Given the description of an element on the screen output the (x, y) to click on. 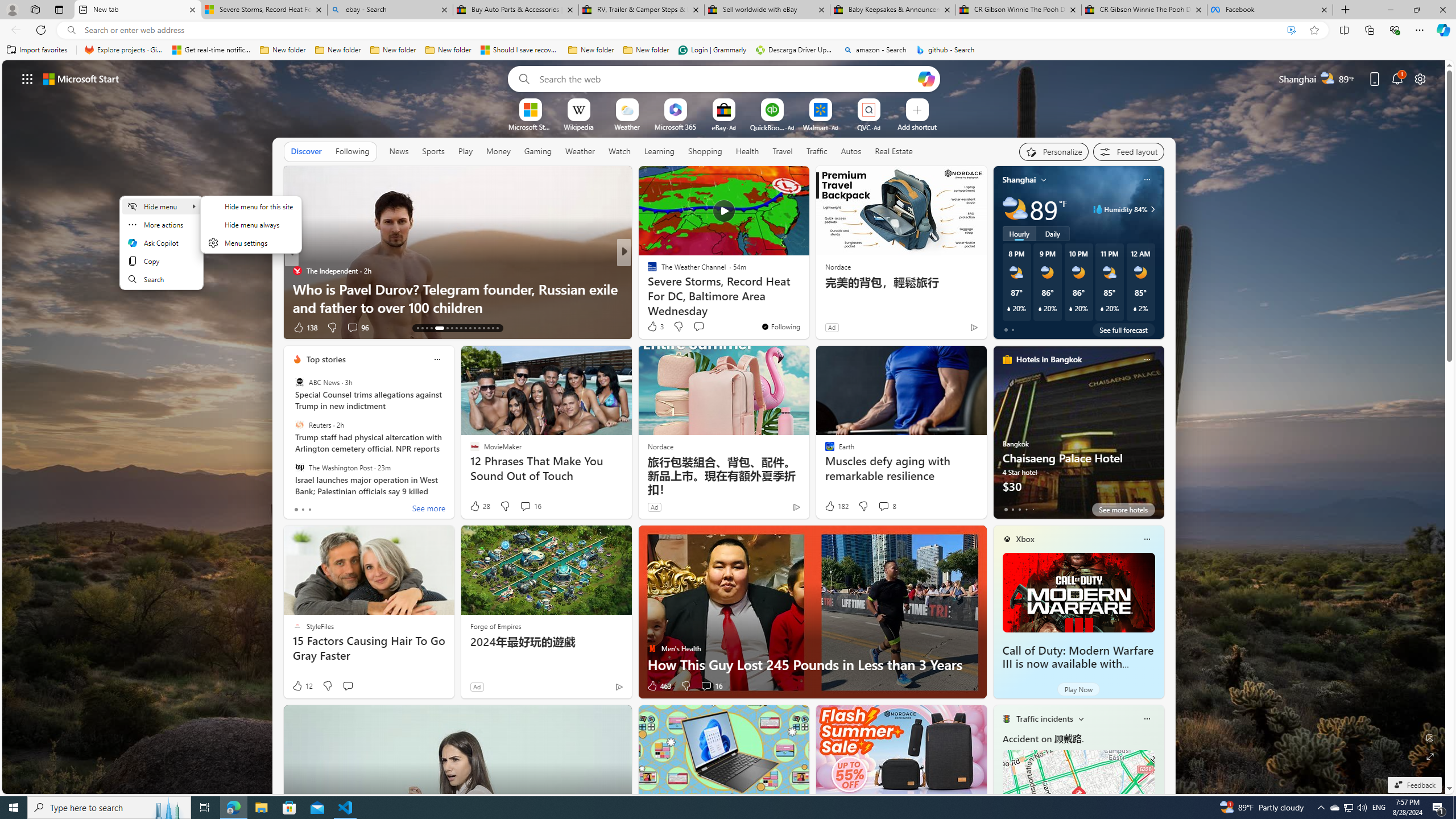
Partly cloudy (1014, 208)
Hide menu always (250, 224)
99 Like (652, 327)
Shanghai (1018, 179)
28 Like (479, 505)
Play Now (1078, 689)
AutomationID: tab-22 (465, 328)
AutomationID: tab-29 (497, 328)
AutomationID: tab-13 (417, 328)
